Given the description of an element on the screen output the (x, y) to click on. 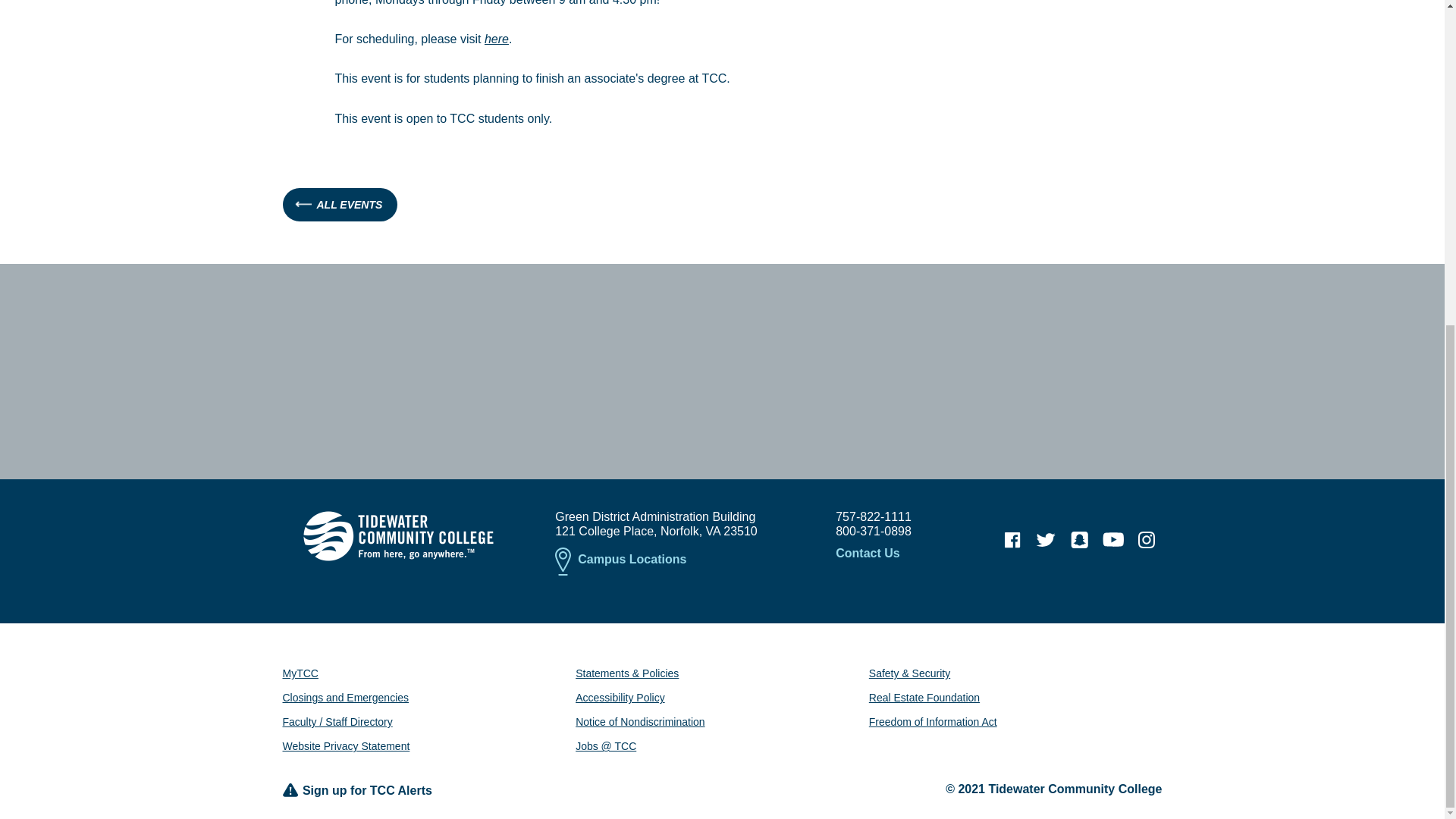
TCC on Snapchat (1079, 539)
TCC on Facebook (1012, 539)
TCC on YouTube (1112, 539)
TCC on Instagram (1146, 539)
Tidewater Community College (398, 535)
TCC on Twitter (1045, 539)
